Given the description of an element on the screen output the (x, y) to click on. 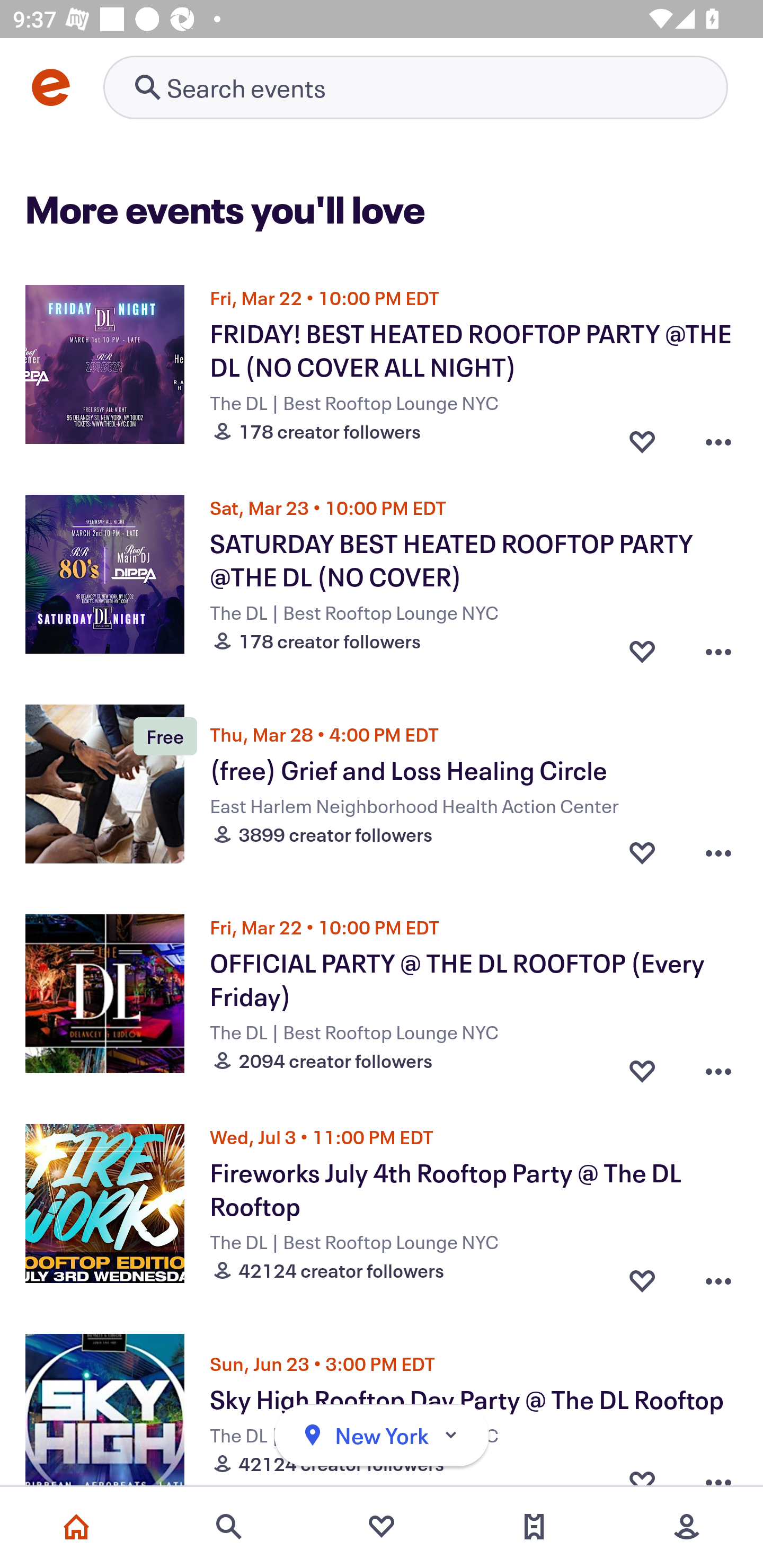
Retry's image Search events (415, 86)
Favorite button (642, 436)
Overflow menu button (718, 436)
Favorite button (642, 646)
Overflow menu button (718, 646)
Favorite button (642, 852)
Overflow menu button (718, 852)
Favorite button (642, 1066)
Overflow menu button (718, 1066)
Favorite button (642, 1275)
Overflow menu button (718, 1275)
New York (381, 1435)
Home (76, 1526)
Search events (228, 1526)
Favorites (381, 1526)
Tickets (533, 1526)
More (686, 1526)
